Given the description of an element on the screen output the (x, y) to click on. 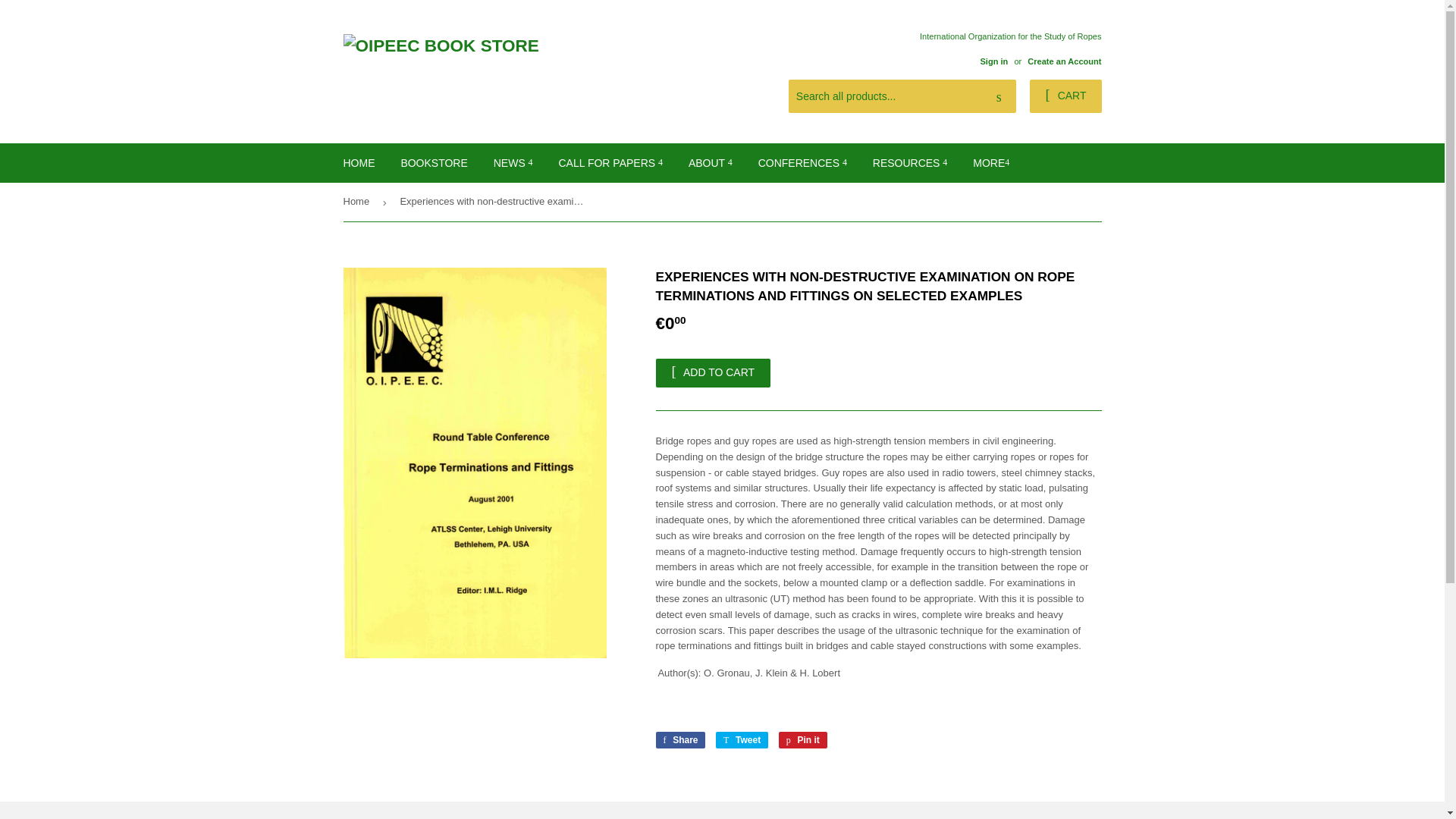
Sign in (993, 60)
HOME (359, 162)
CART (1064, 96)
Search (998, 97)
Tweet on Twitter (742, 740)
Pin on Pinterest (802, 740)
Share on Facebook (679, 740)
Create an Account (1063, 60)
